Given the description of an element on the screen output the (x, y) to click on. 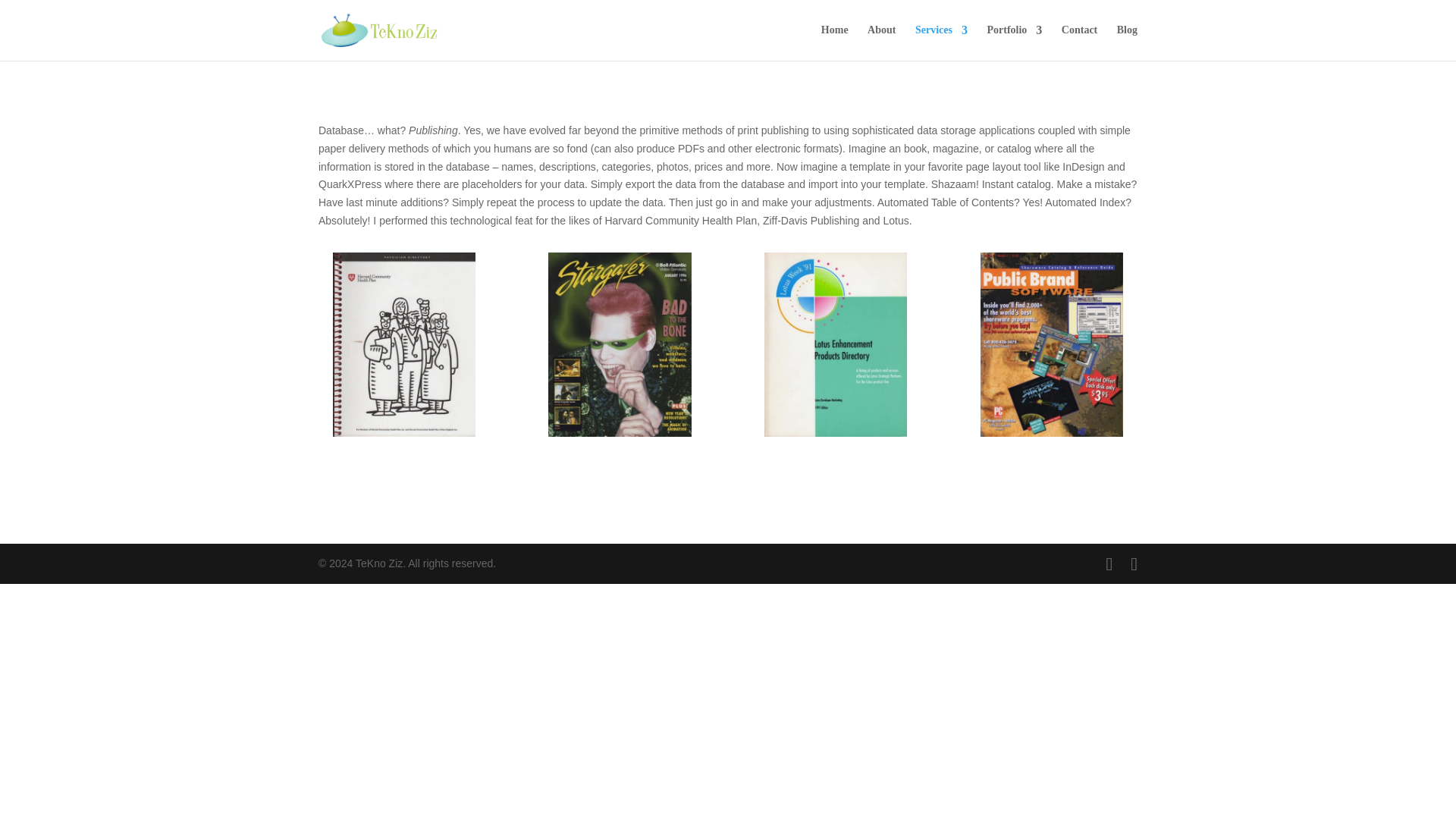
Services (941, 42)
dp-pbsoft (1050, 432)
dp-stargazer (619, 432)
Portfolio (1014, 42)
Contact (1079, 42)
dp-hchp (404, 432)
dp-lotus (835, 432)
